Given the description of an element on the screen output the (x, y) to click on. 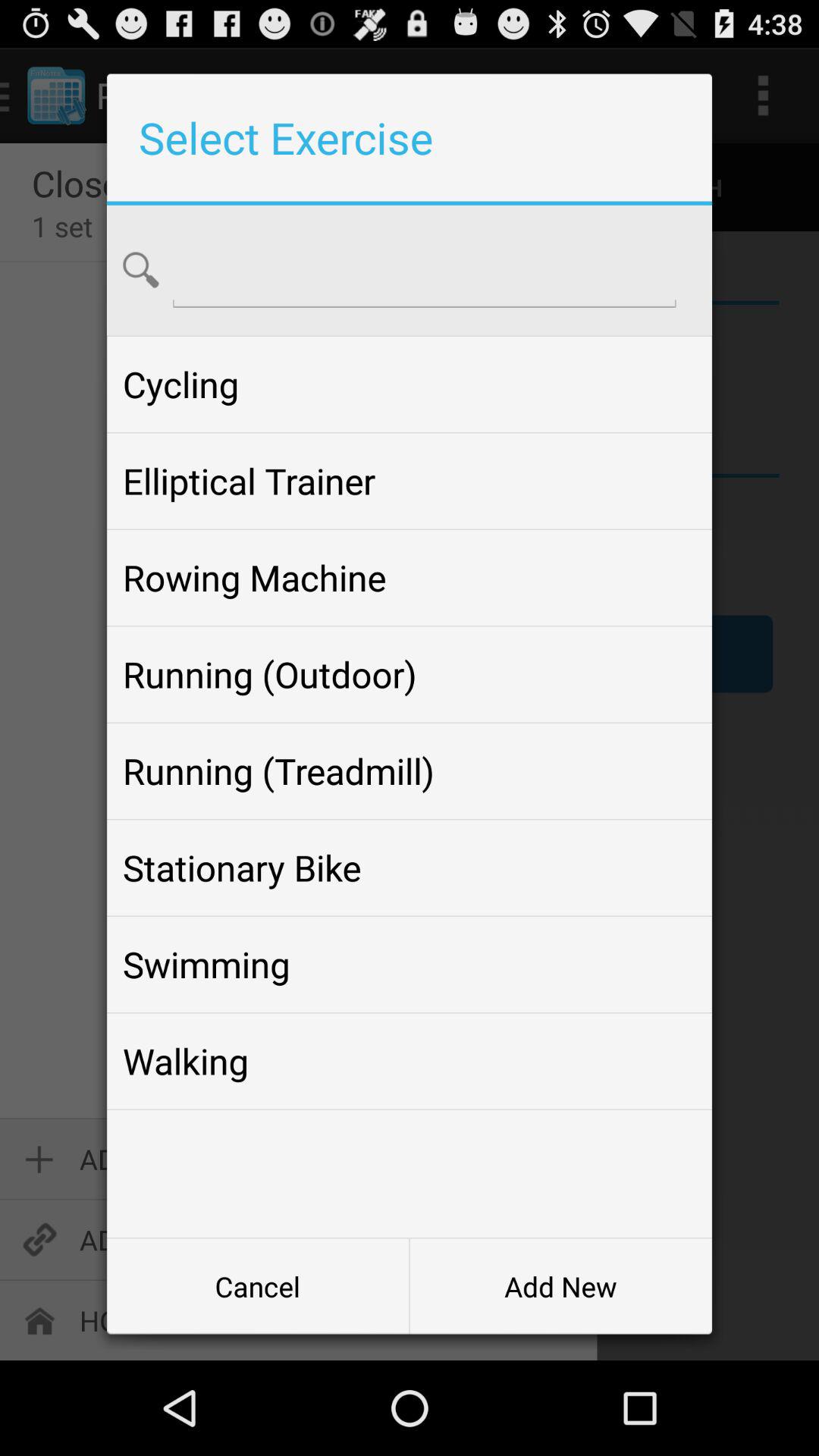
scroll to the cancel item (257, 1286)
